Given the description of an element on the screen output the (x, y) to click on. 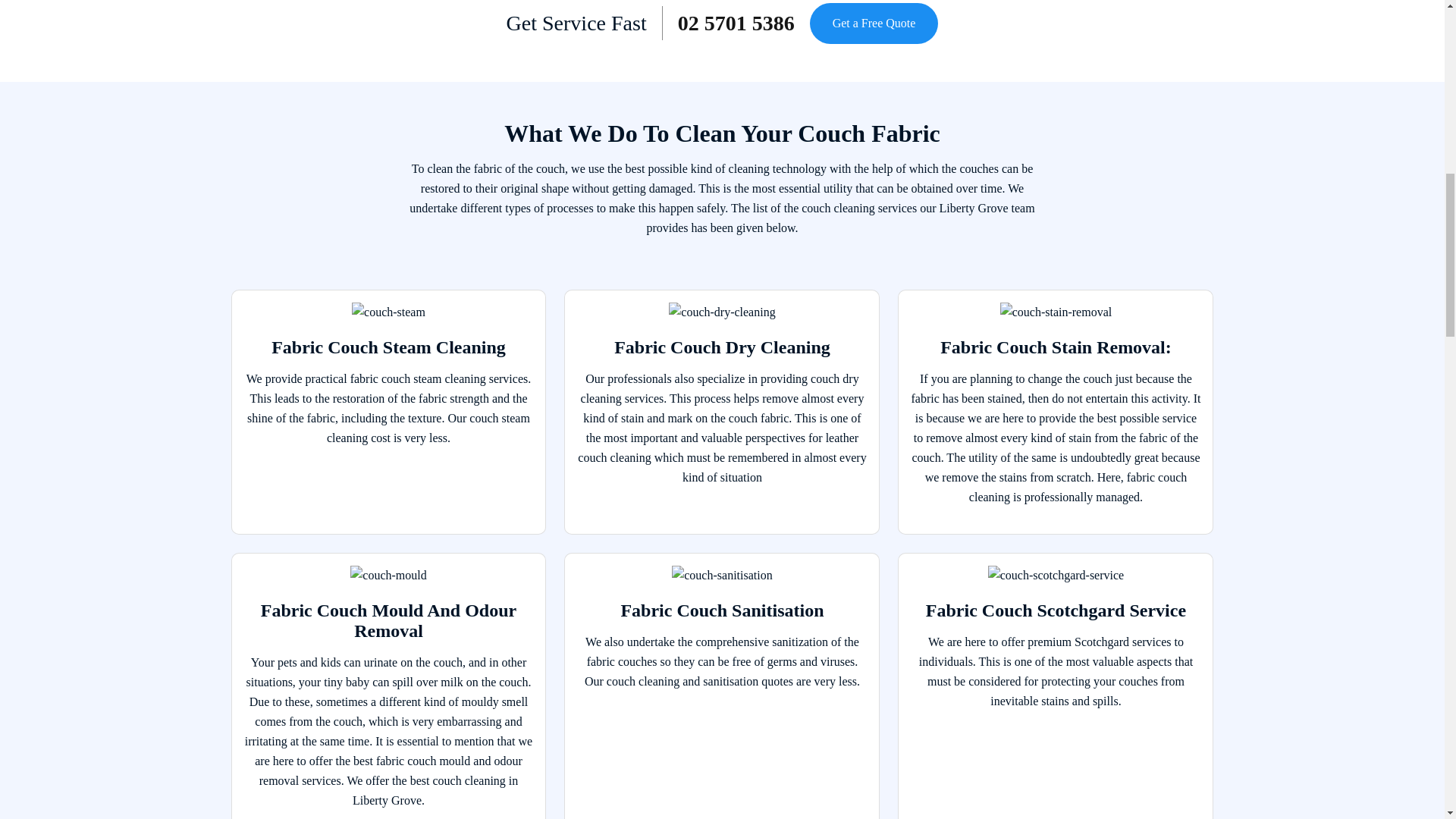
Get a Free Quote (874, 23)
02 5701 5386 (736, 22)
